Given the description of an element on the screen output the (x, y) to click on. 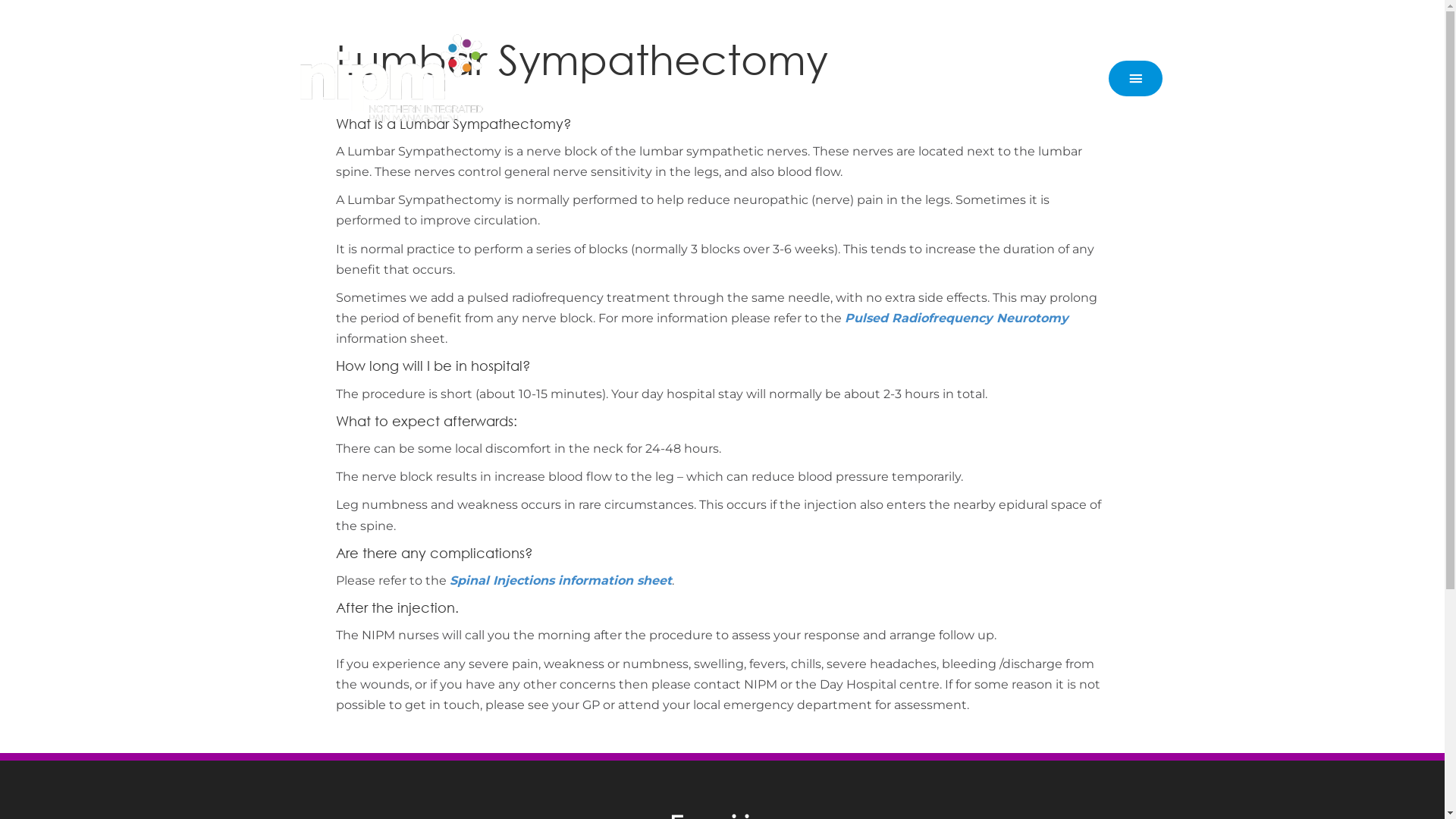
nipm-logo-reversed-sm Element type: hover (394, 78)
Pulsed Radiofrequency Neurotomy Element type: text (956, 317)
Spinal Injections information sheet Element type: text (559, 580)
